Given the description of an element on the screen output the (x, y) to click on. 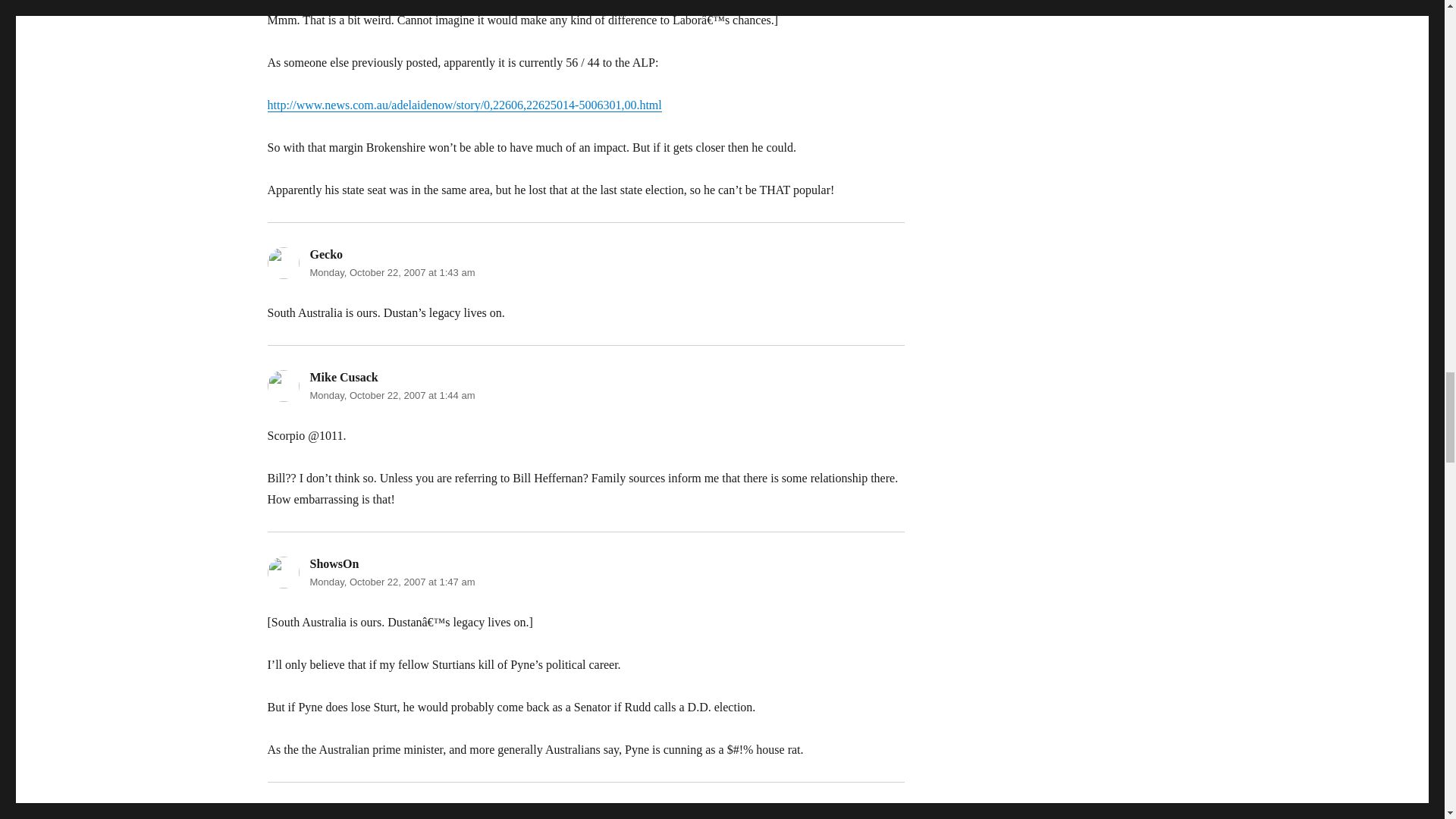
Monday, October 22, 2007 at 1:44 am (391, 395)
Monday, October 22, 2007 at 1:43 am (391, 272)
Monday, October 22, 2007 at 1:47 am (391, 582)
